Given the description of an element on the screen output the (x, y) to click on. 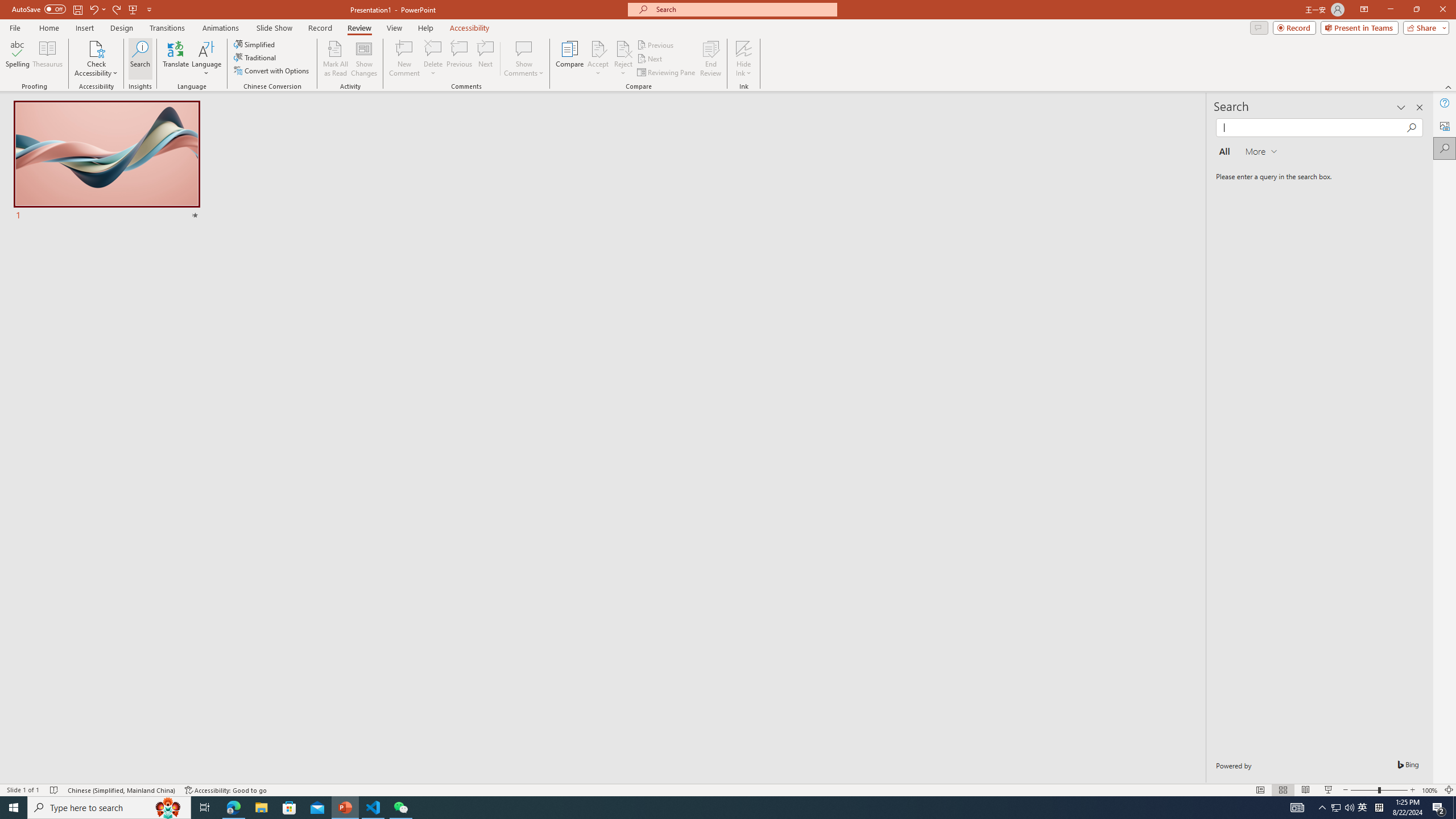
Delete (432, 58)
Accept (598, 58)
Accept Change (598, 48)
Reject (622, 58)
Traditional (255, 56)
Spelling... (17, 58)
